Given the description of an element on the screen output the (x, y) to click on. 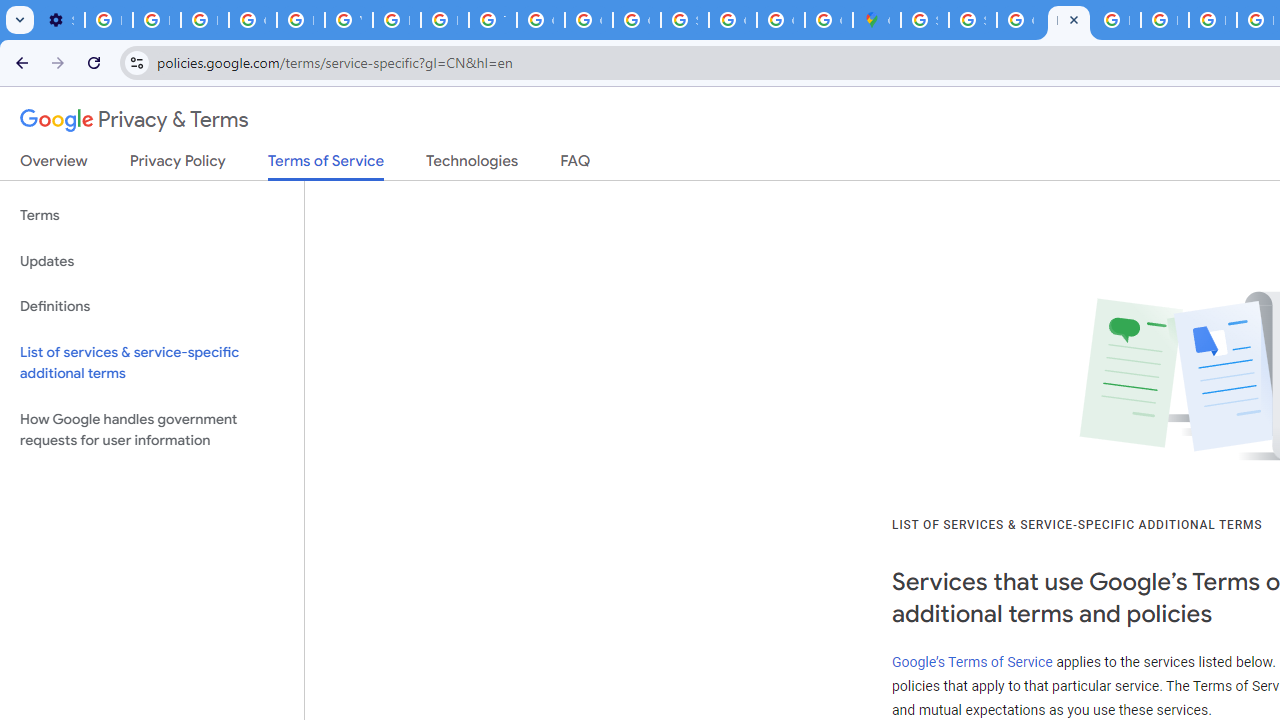
Definitions (152, 306)
Privacy Help Center - Policies Help (1212, 20)
Google Maps (876, 20)
YouTube (348, 20)
Learn how to find your photos - Google Photos Help (156, 20)
Sign in - Google Accounts (972, 20)
Delete photos & videos - Computer - Google Photos Help (108, 20)
